Given the description of an element on the screen output the (x, y) to click on. 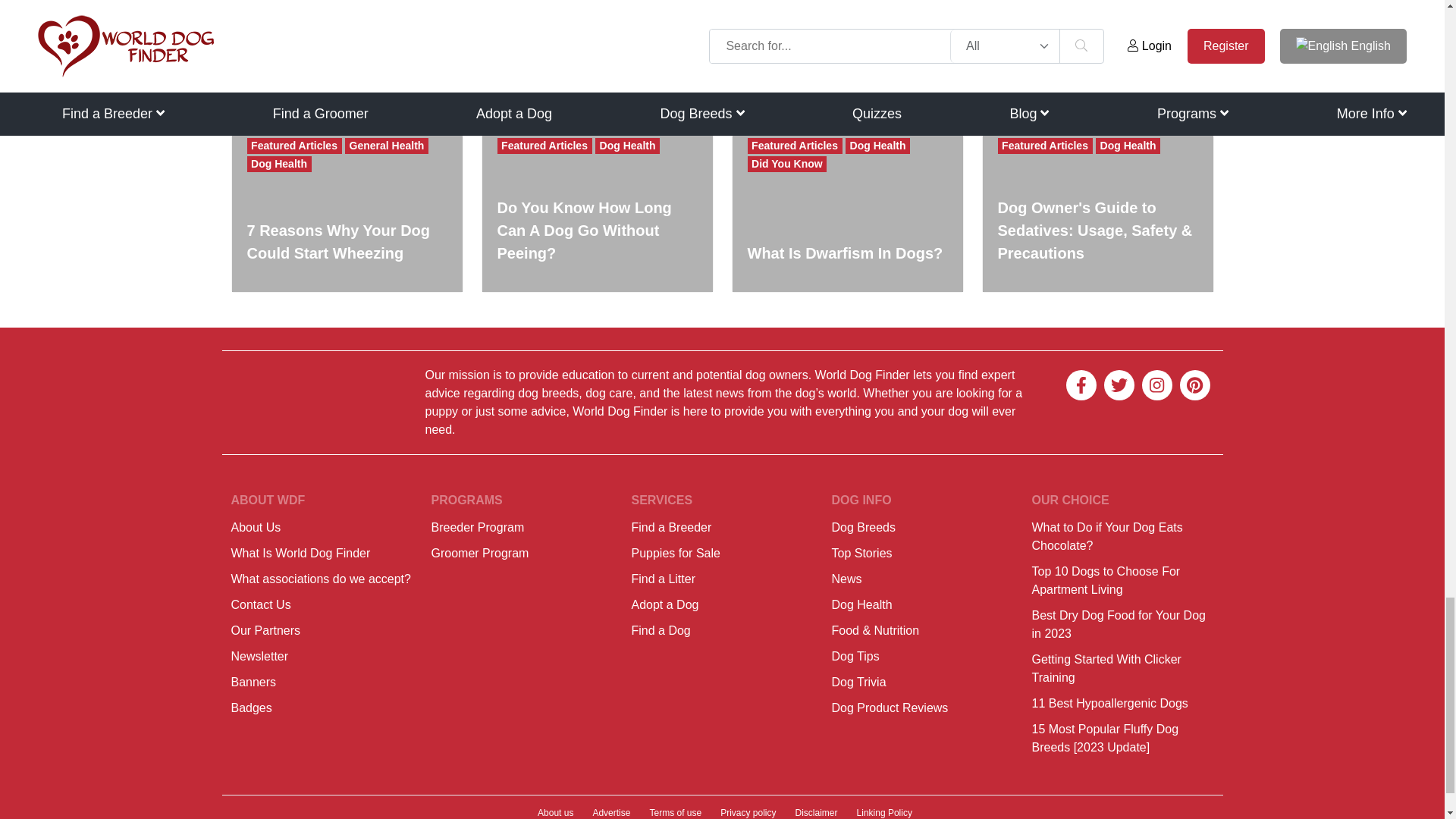
Share on Facebook (319, 69)
Share on pinterest (410, 69)
Tweet (365, 69)
Share (456, 69)
